Given the description of an element on the screen output the (x, y) to click on. 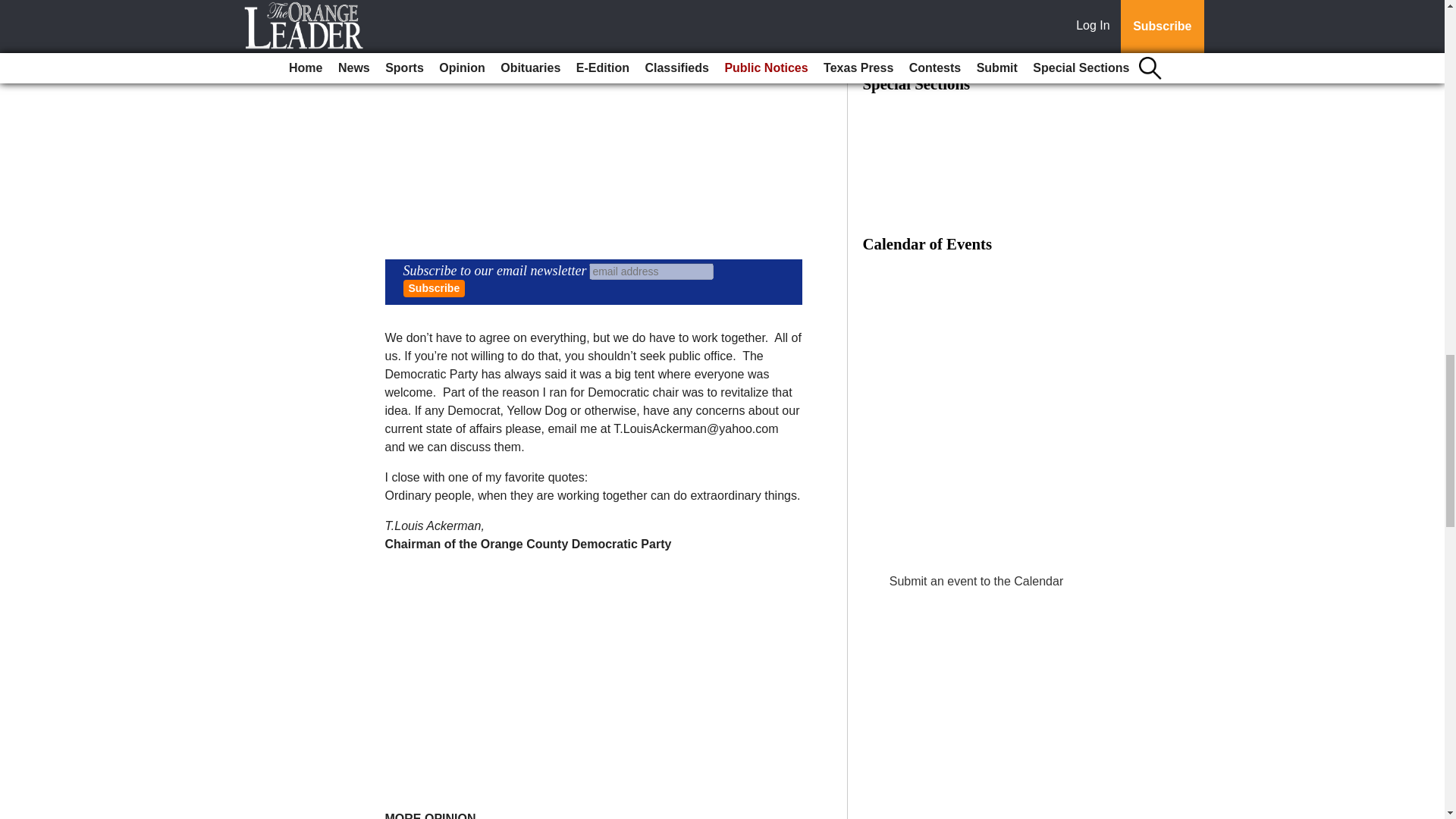
Subscribe (434, 288)
Subscribe (434, 288)
